Given the description of an element on the screen output the (x, y) to click on. 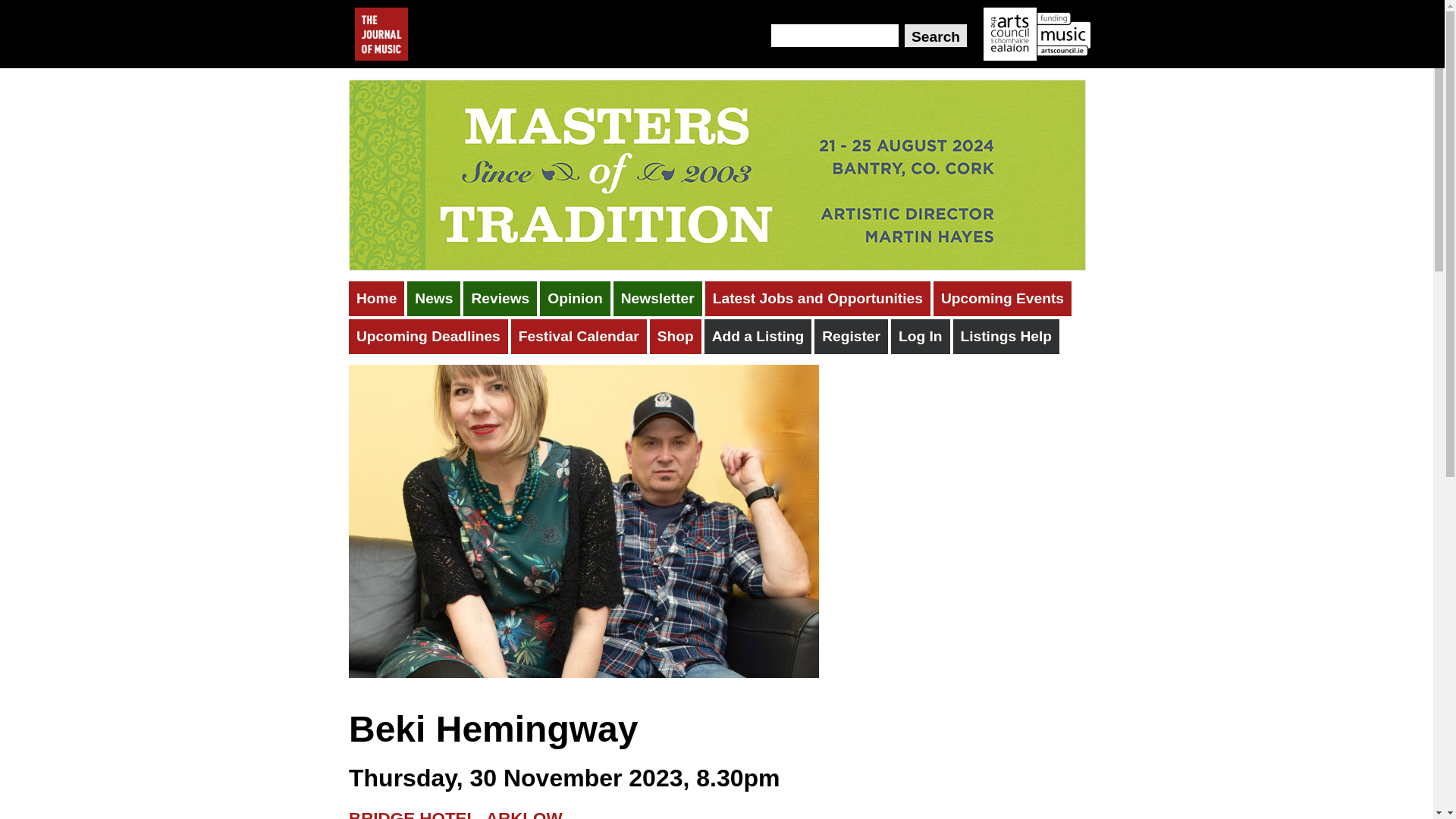
Opinion (575, 298)
Home (376, 298)
Upcoming Events (1002, 298)
News (433, 298)
Enter the terms you wish to search for. (834, 35)
Upcoming Deadlines (428, 336)
Newsletter (656, 298)
Search (935, 35)
Reviews (500, 298)
